Given the description of an element on the screen output the (x, y) to click on. 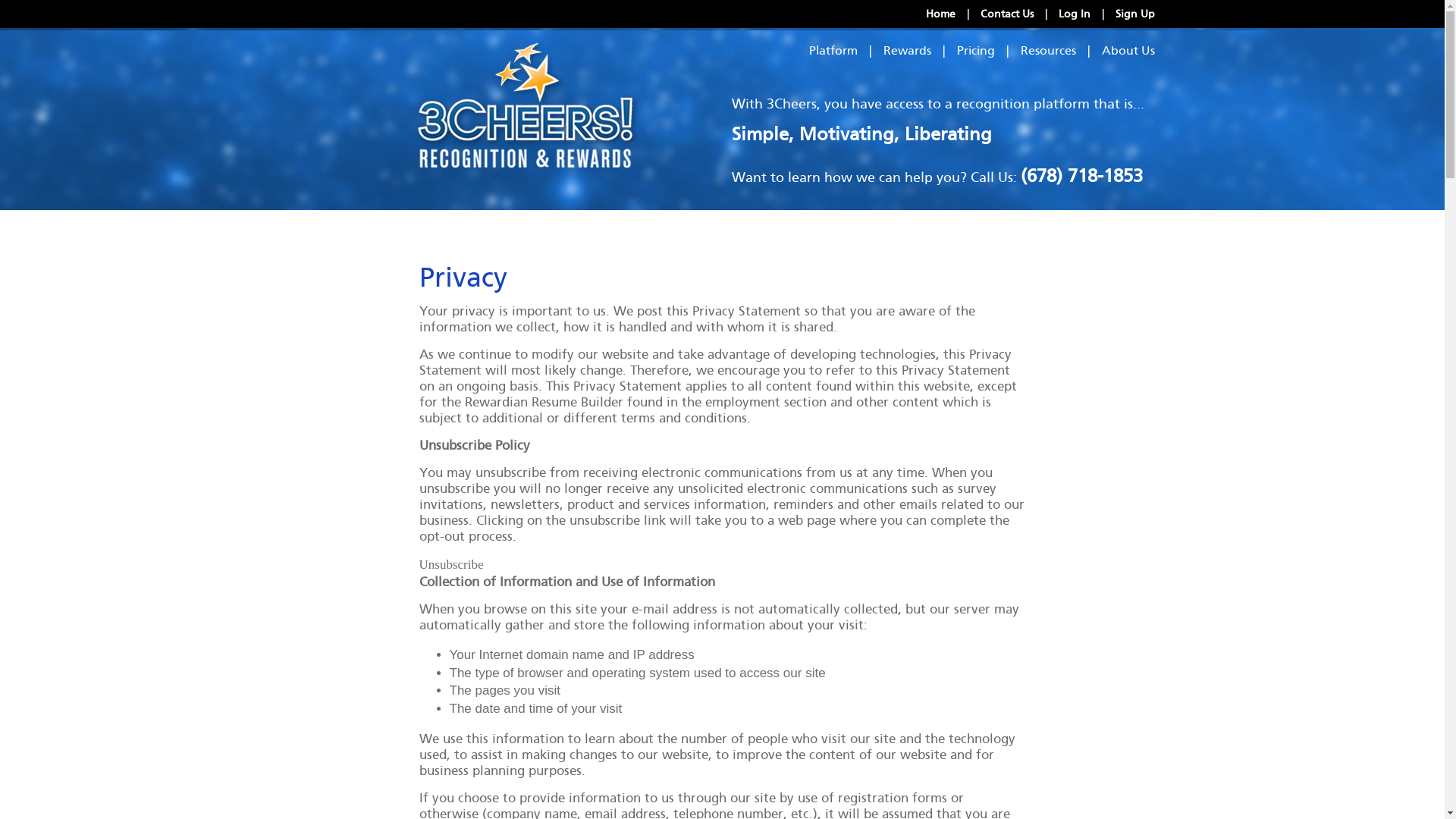
Sign Up Element type: text (1134, 13)
Log In Element type: text (1074, 13)
Platform Element type: text (832, 50)
3Cheers Home Element type: hover (527, 103)
Pricing Element type: text (975, 50)
Home Element type: text (939, 13)
Resources Element type: text (1048, 50)
About Us Element type: text (1127, 50)
Contact Us Element type: text (1005, 13)
Unsubscribe Element type: text (450, 564)
Rewards Element type: text (906, 50)
